Given the description of an element on the screen output the (x, y) to click on. 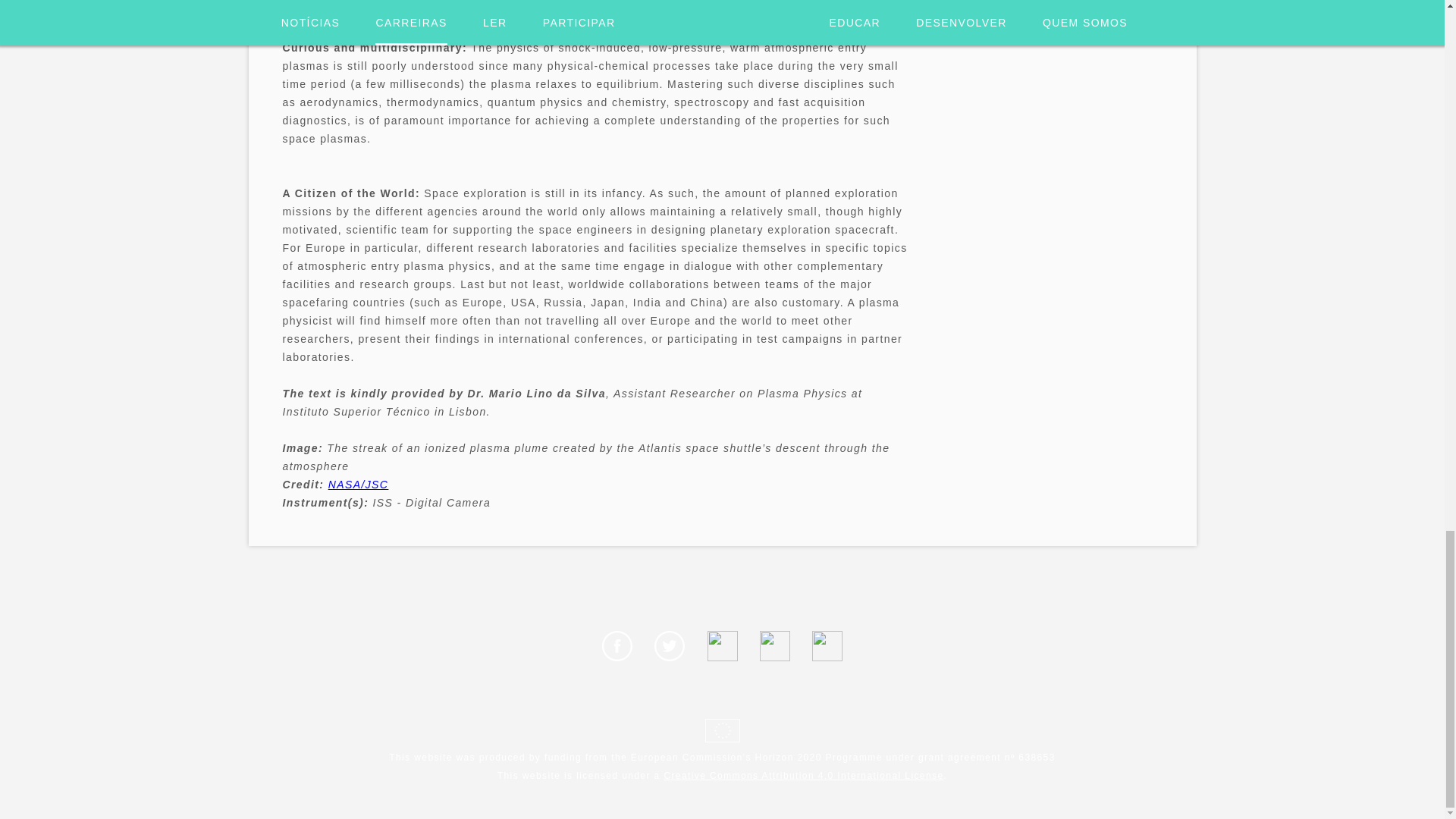
Creative Commons Attribution 4.0 International License (803, 775)
